Given the description of an element on the screen output the (x, y) to click on. 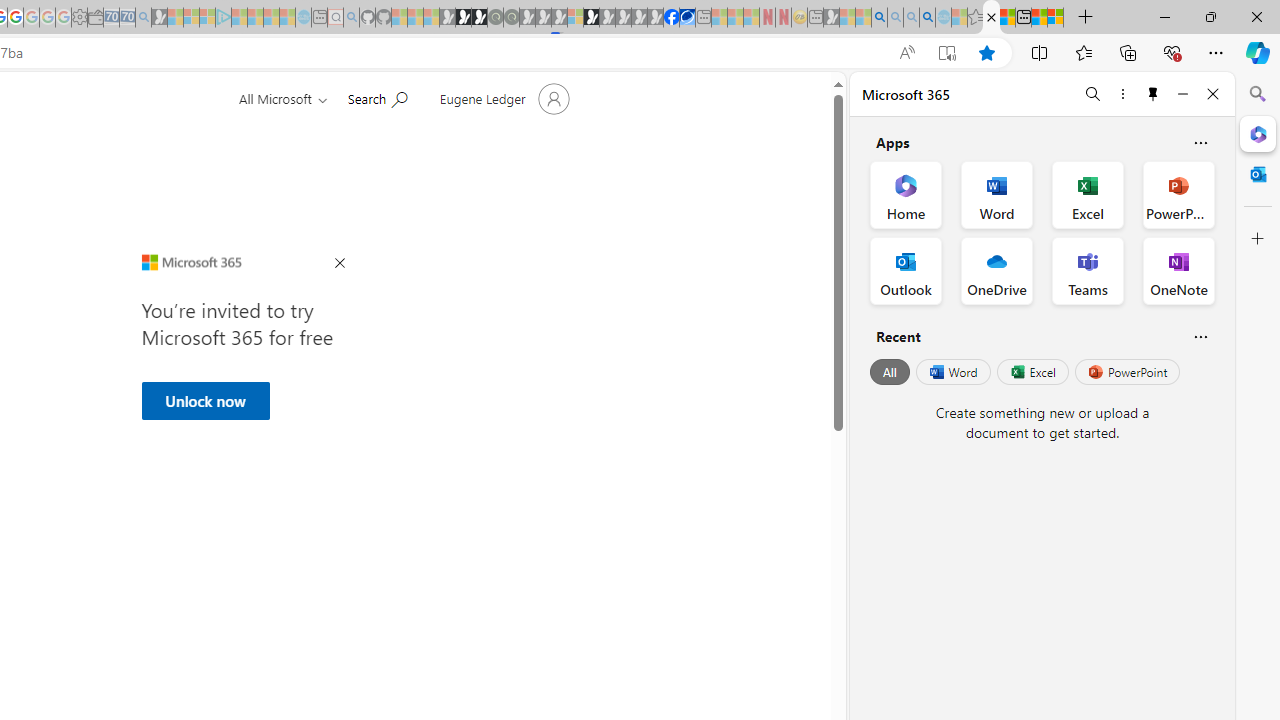
Nordace | Facebook (671, 17)
